Given the description of an element on the screen output the (x, y) to click on. 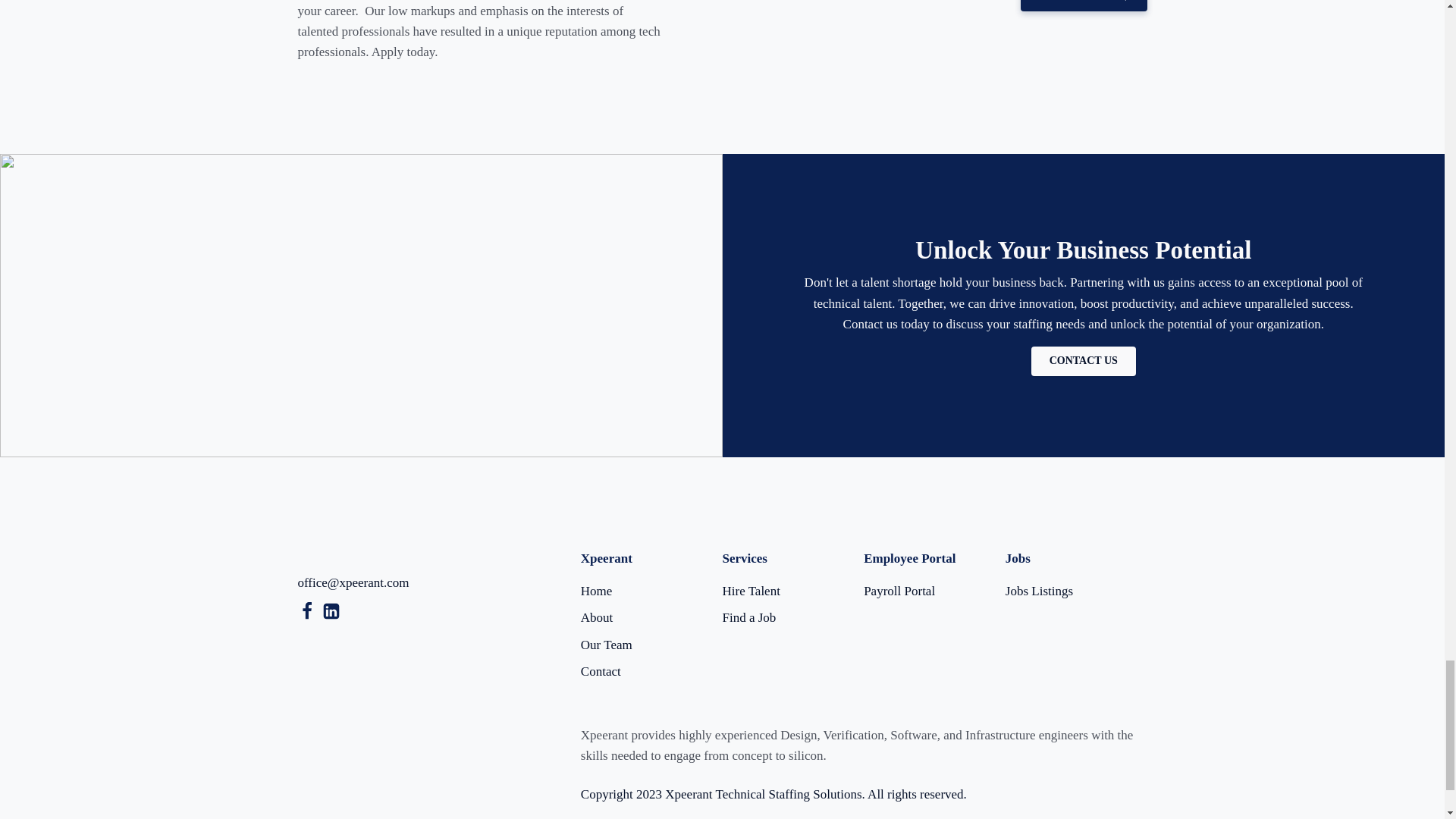
Payroll Portal (898, 590)
Our Team (605, 644)
JOBS LISTING (1083, 6)
CONTACT US (1082, 360)
About (596, 617)
Find a Job (749, 617)
Hire Talent (750, 590)
Contact (600, 670)
Jobs Listings (1039, 590)
Home (596, 590)
